Given the description of an element on the screen output the (x, y) to click on. 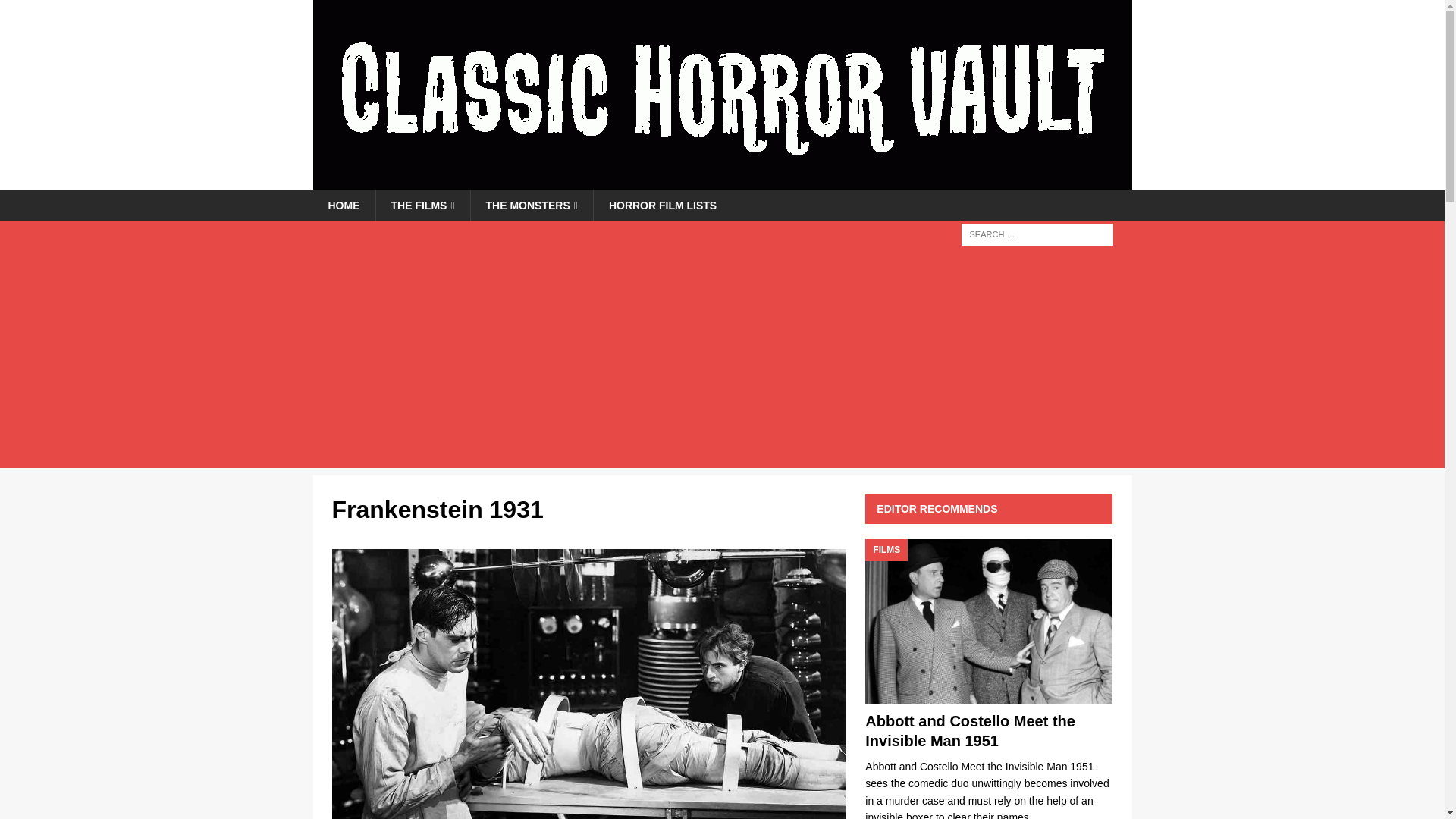
THE MONSTERS (531, 205)
THE FILMS (421, 205)
Search (56, 11)
Classic Horror Vault (722, 181)
HORROR FILM LISTS (662, 205)
HOME (343, 205)
